Given the description of an element on the screen output the (x, y) to click on. 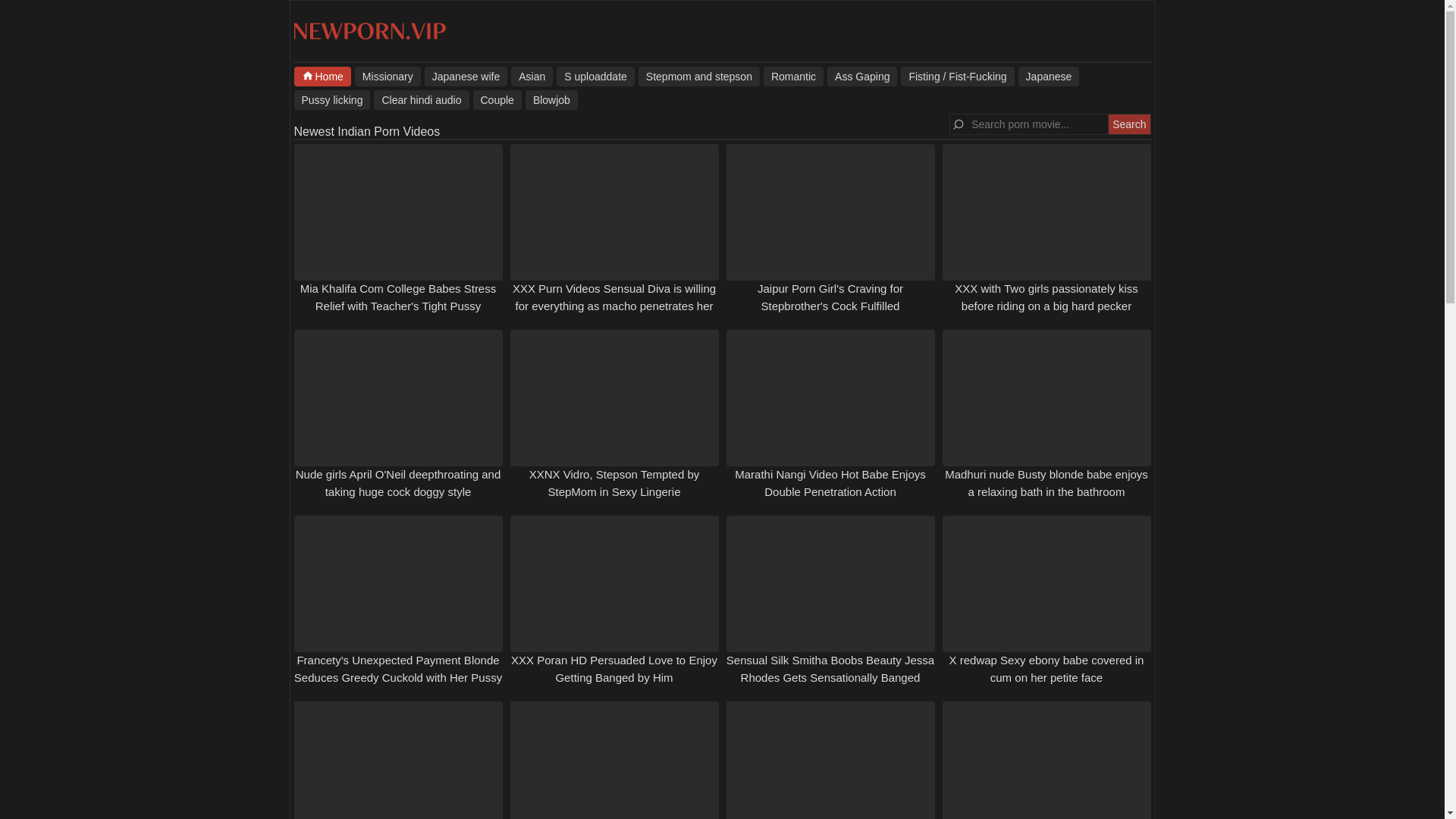
XXX Poran HD Persuaded Love to Enjoy Getting Banged by Him (614, 668)
Romantic (793, 76)
Stepmom and stepson (699, 76)
Blowjob (551, 99)
Pussy licking (332, 99)
Couple (497, 99)
